Given the description of an element on the screen output the (x, y) to click on. 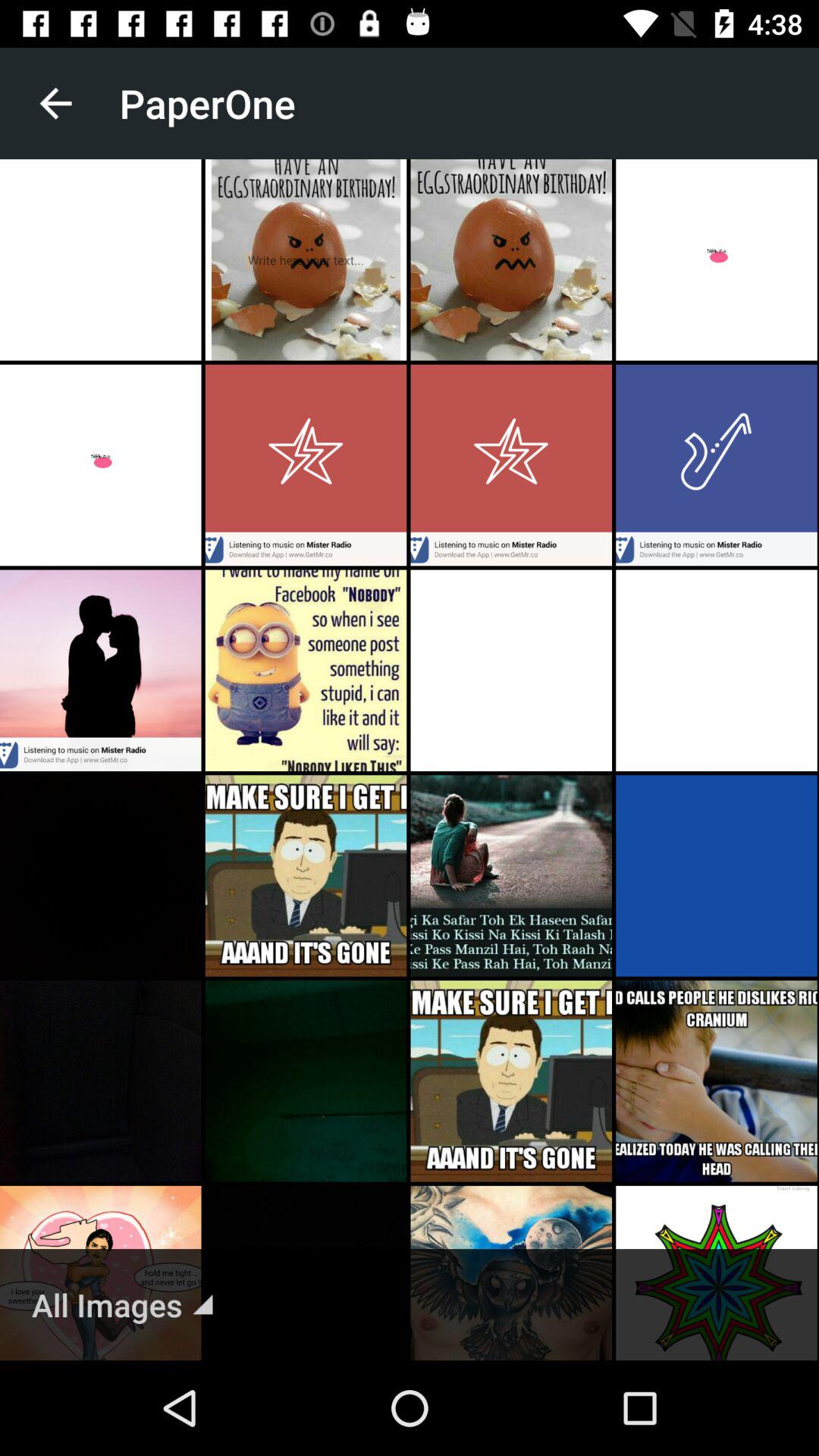
click all images (122, 1304)
